Given the description of an element on the screen output the (x, y) to click on. 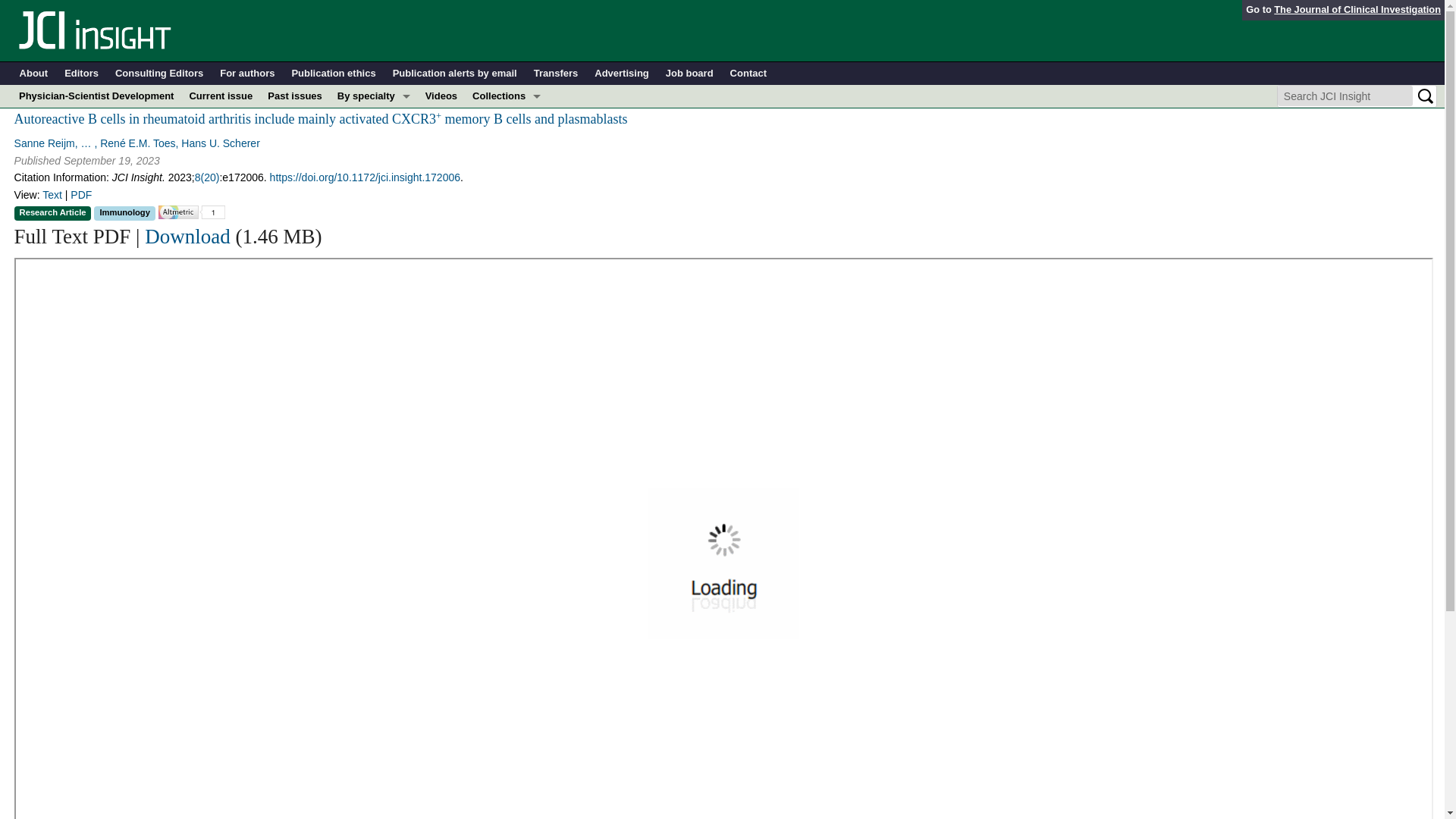
Resource and Technical Advances (506, 141)
Past issues (295, 96)
Contact (748, 73)
Publication ethics (333, 73)
Clinical Medicine (506, 164)
Publication alerts by email (454, 73)
Nephrology (373, 210)
The Journal of Clinical Investigation (1357, 9)
For authors (247, 73)
About (34, 73)
Immunology (373, 164)
Physician-Scientist Development (95, 96)
Pulmonology (373, 255)
Top read articles (506, 277)
Editorials (506, 187)
